Given the description of an element on the screen output the (x, y) to click on. 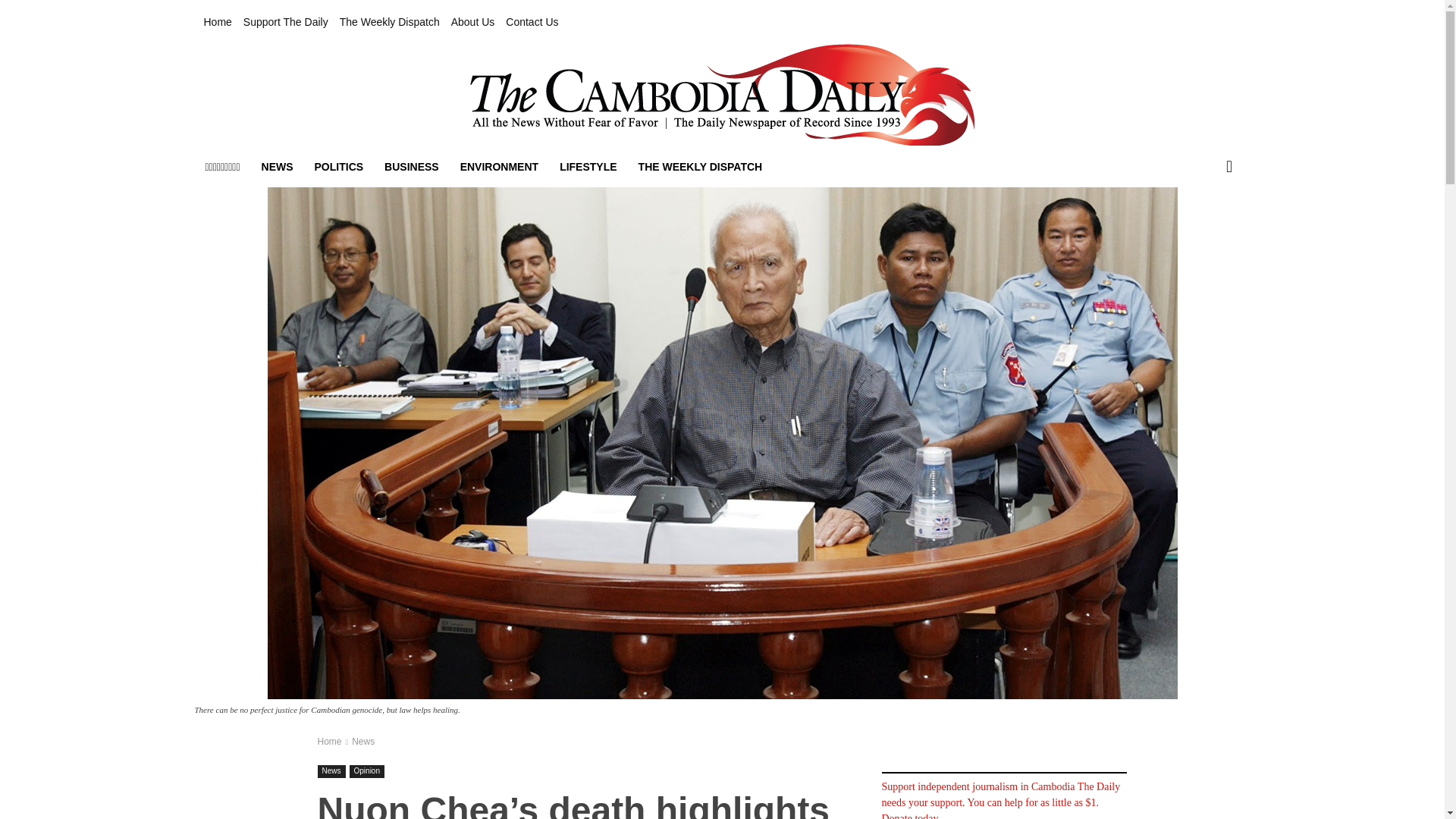
THE WEEKLY DISPATCH (700, 166)
About Us (473, 21)
Support The Daily (286, 21)
POLITICS (339, 166)
LIFESTYLE (587, 166)
The Weekly Dispatch (389, 21)
View all posts in News (363, 741)
News (363, 741)
ENVIRONMENT (498, 166)
BUSINESS (411, 166)
News (331, 771)
Contact Us (531, 21)
Opinion (366, 771)
All the news without fear or favor (721, 94)
NEWS (277, 166)
